Given the description of an element on the screen output the (x, y) to click on. 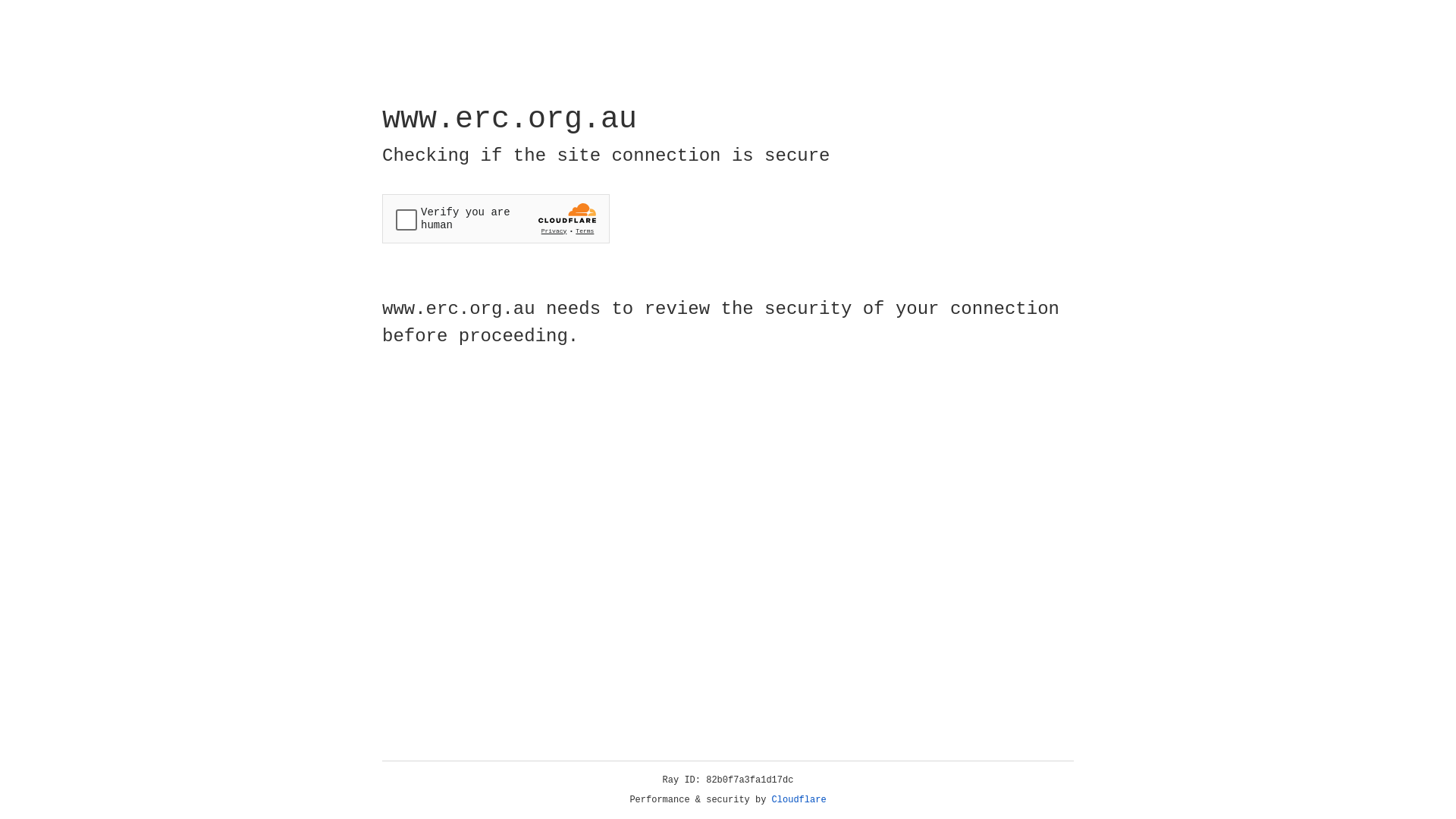
Cloudflare Element type: text (798, 799)
Widget containing a Cloudflare security challenge Element type: hover (495, 218)
